Given the description of an element on the screen output the (x, y) to click on. 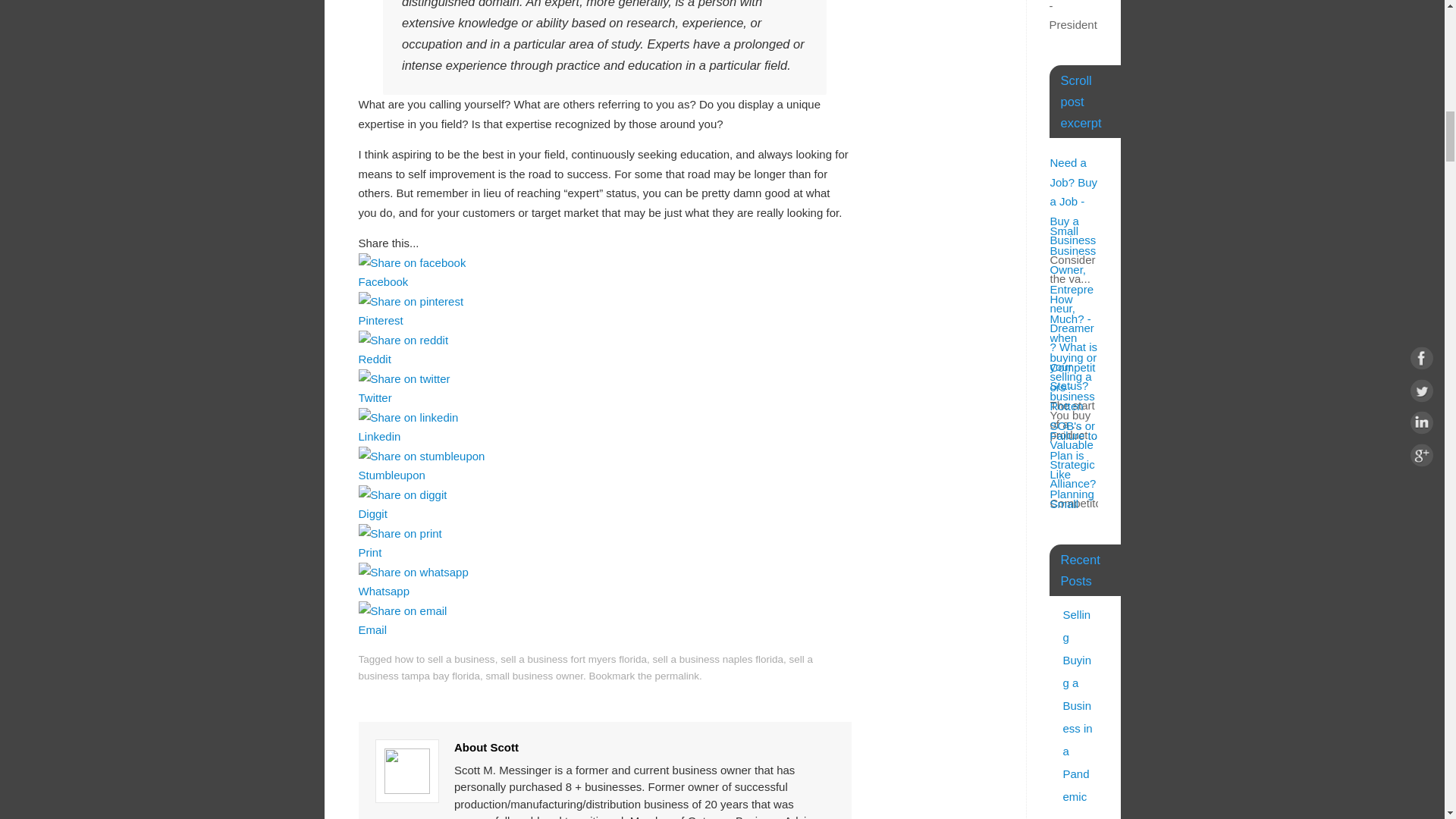
Reddit (604, 358)
Linkedin (604, 436)
Twitter (604, 398)
Pinterest (604, 320)
facebook (411, 262)
Facebook (604, 281)
Stumbleupon (604, 475)
